Given the description of an element on the screen output the (x, y) to click on. 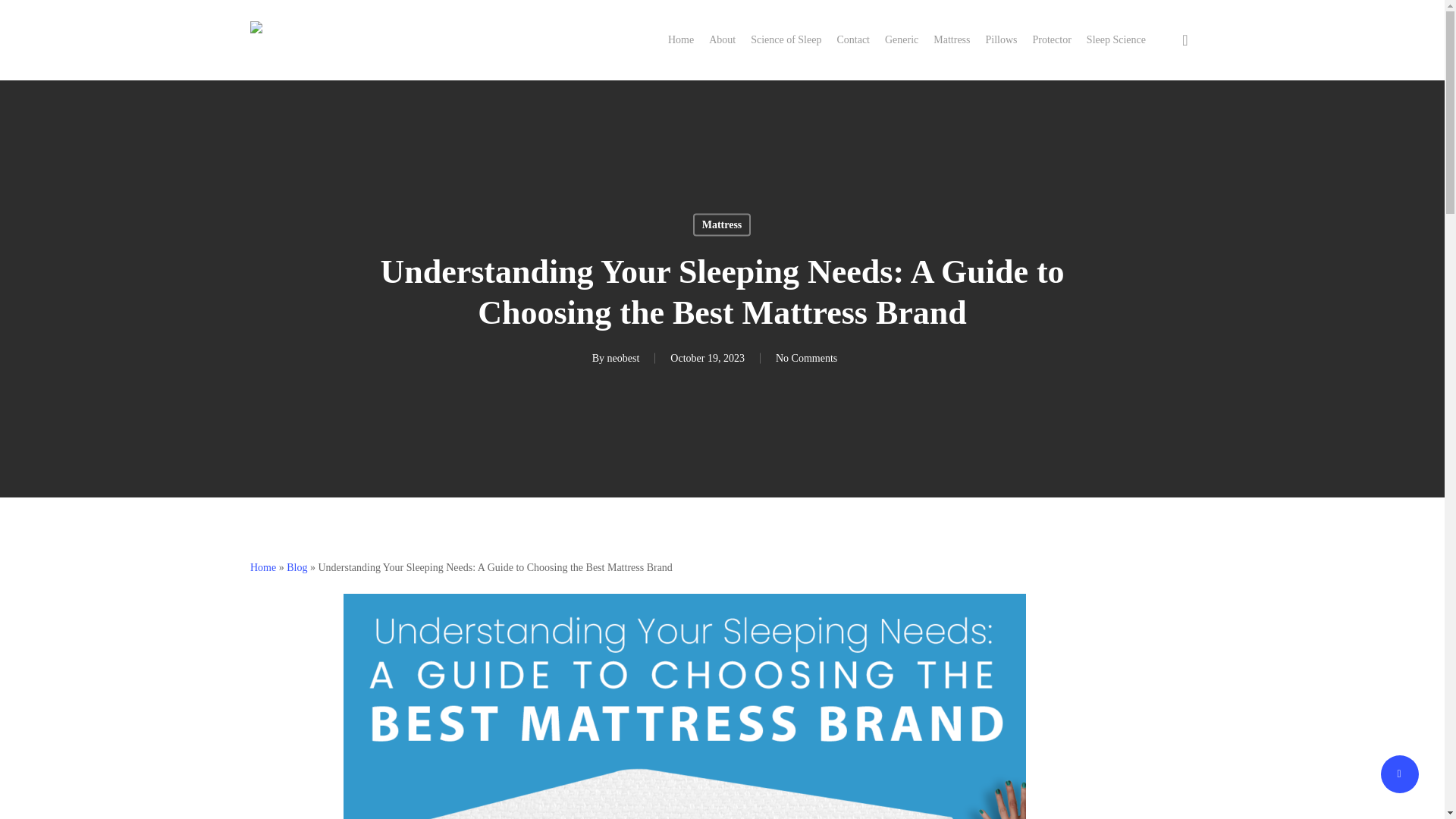
Home (263, 567)
Posts by neobest (623, 357)
No Comments (806, 357)
Generic (901, 39)
About (722, 39)
Mattress (951, 39)
neobest (623, 357)
Contact (852, 39)
Home (681, 39)
Protector (1051, 39)
Blog (296, 567)
search (1184, 39)
Mattress (722, 224)
Pillows (1001, 39)
